Given the description of an element on the screen output the (x, y) to click on. 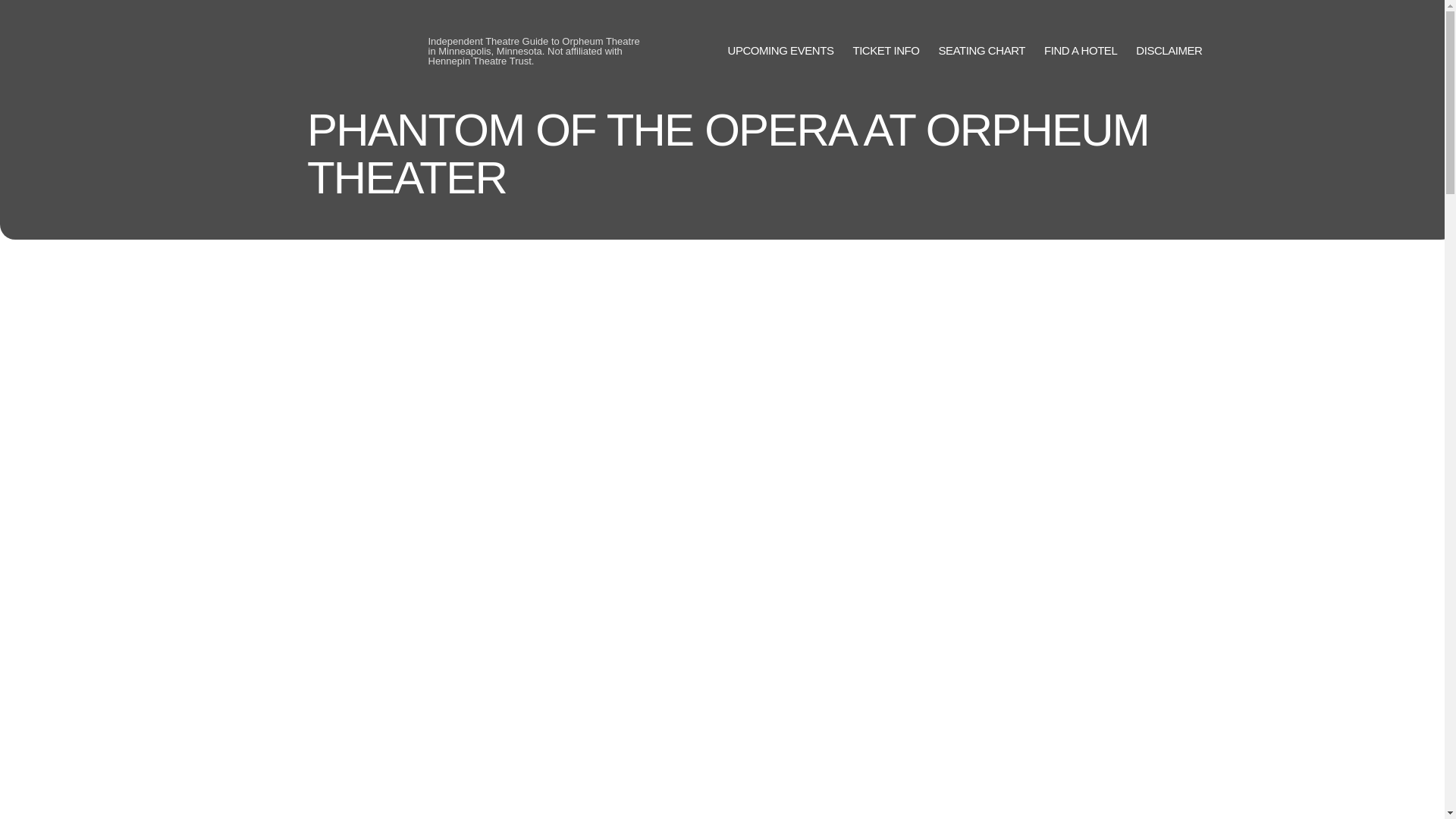
UPCOMING EVENTS (781, 50)
DISCLAIMER (1168, 50)
SEATING CHART (982, 50)
FIND A HOTEL (1079, 50)
TICKET INFO (884, 50)
